Given the description of an element on the screen output the (x, y) to click on. 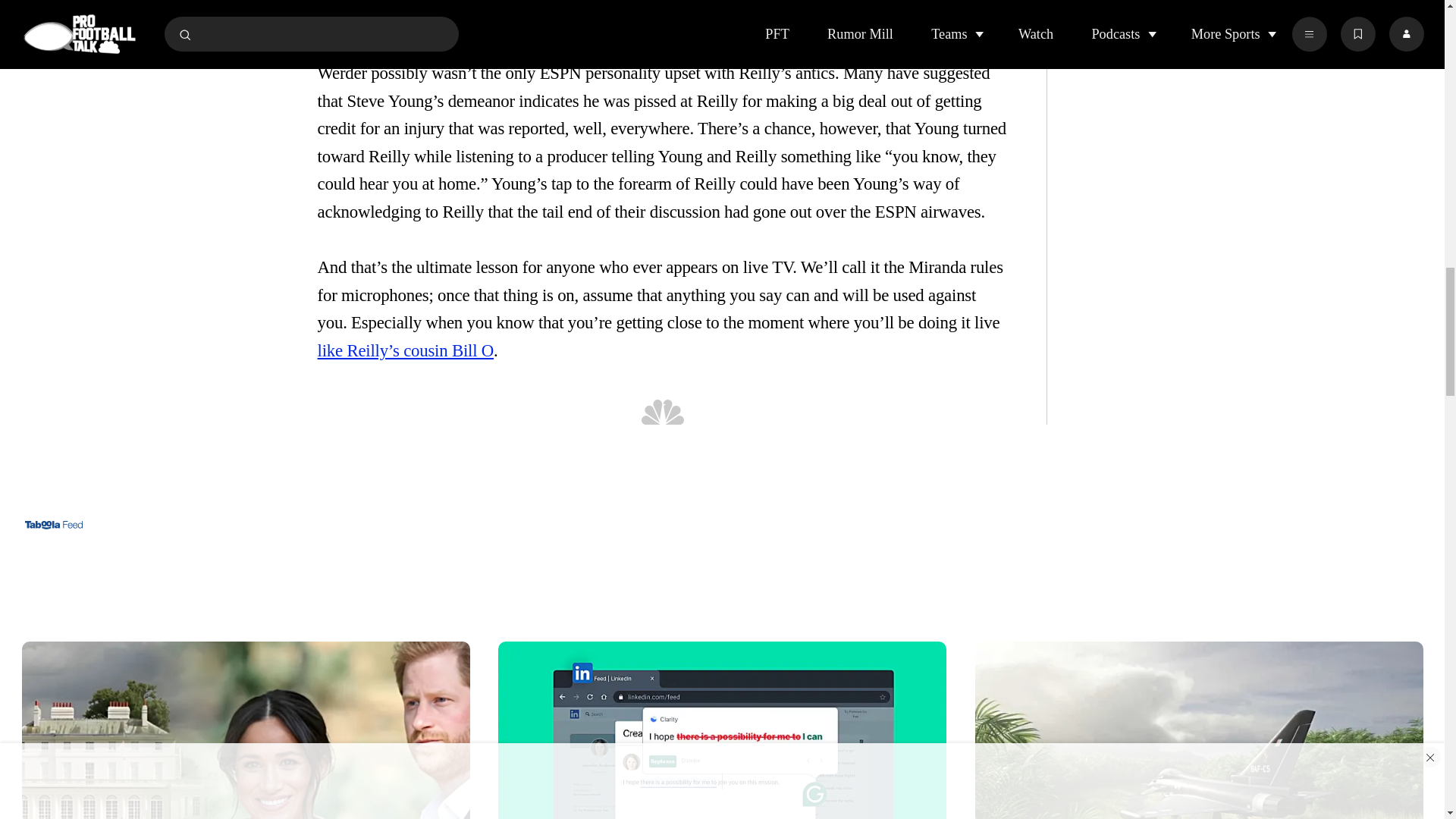
What is your writing missing? (721, 725)
